Given the description of an element on the screen output the (x, y) to click on. 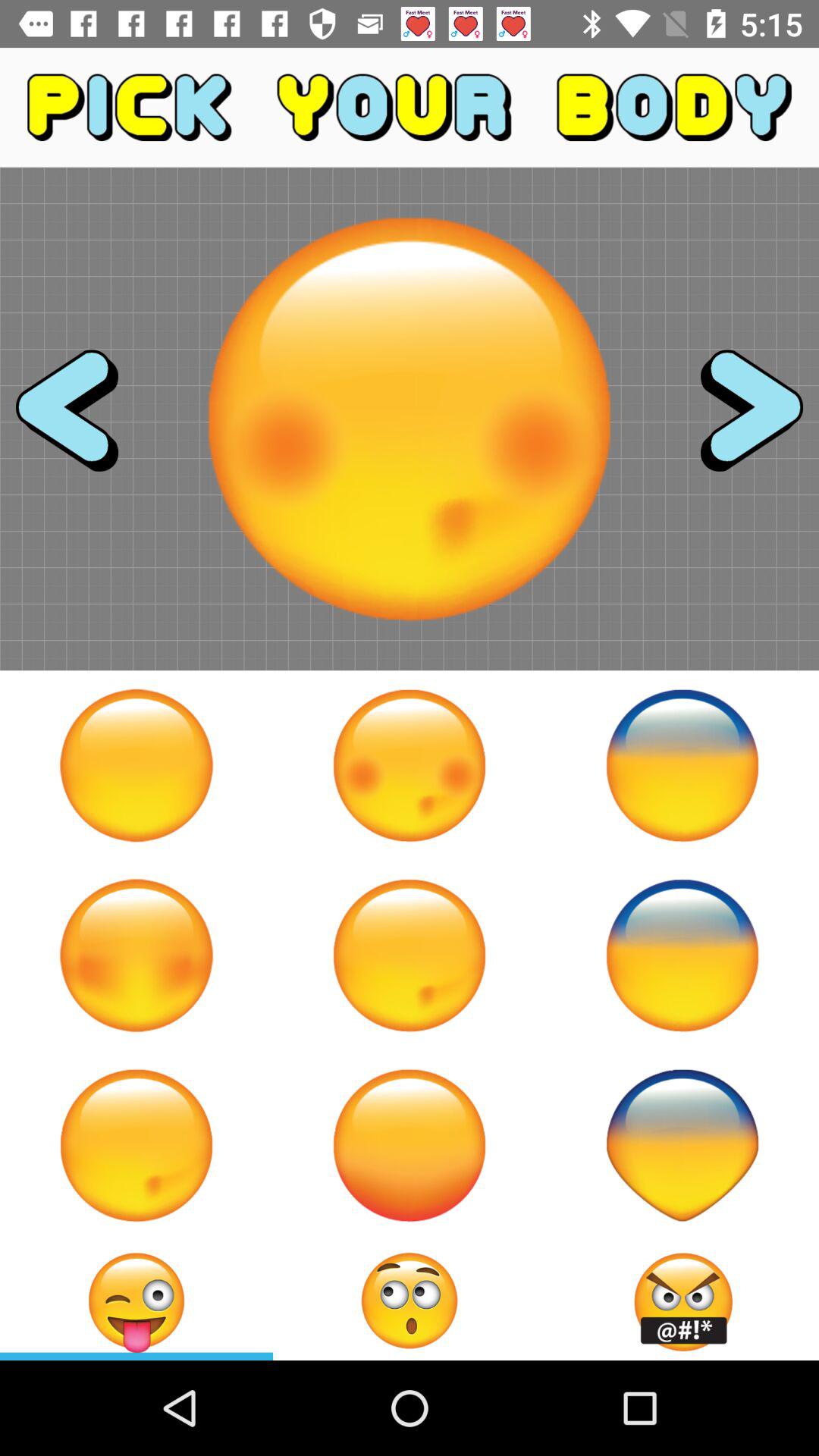
pick body button (682, 955)
